Given the description of an element on the screen output the (x, y) to click on. 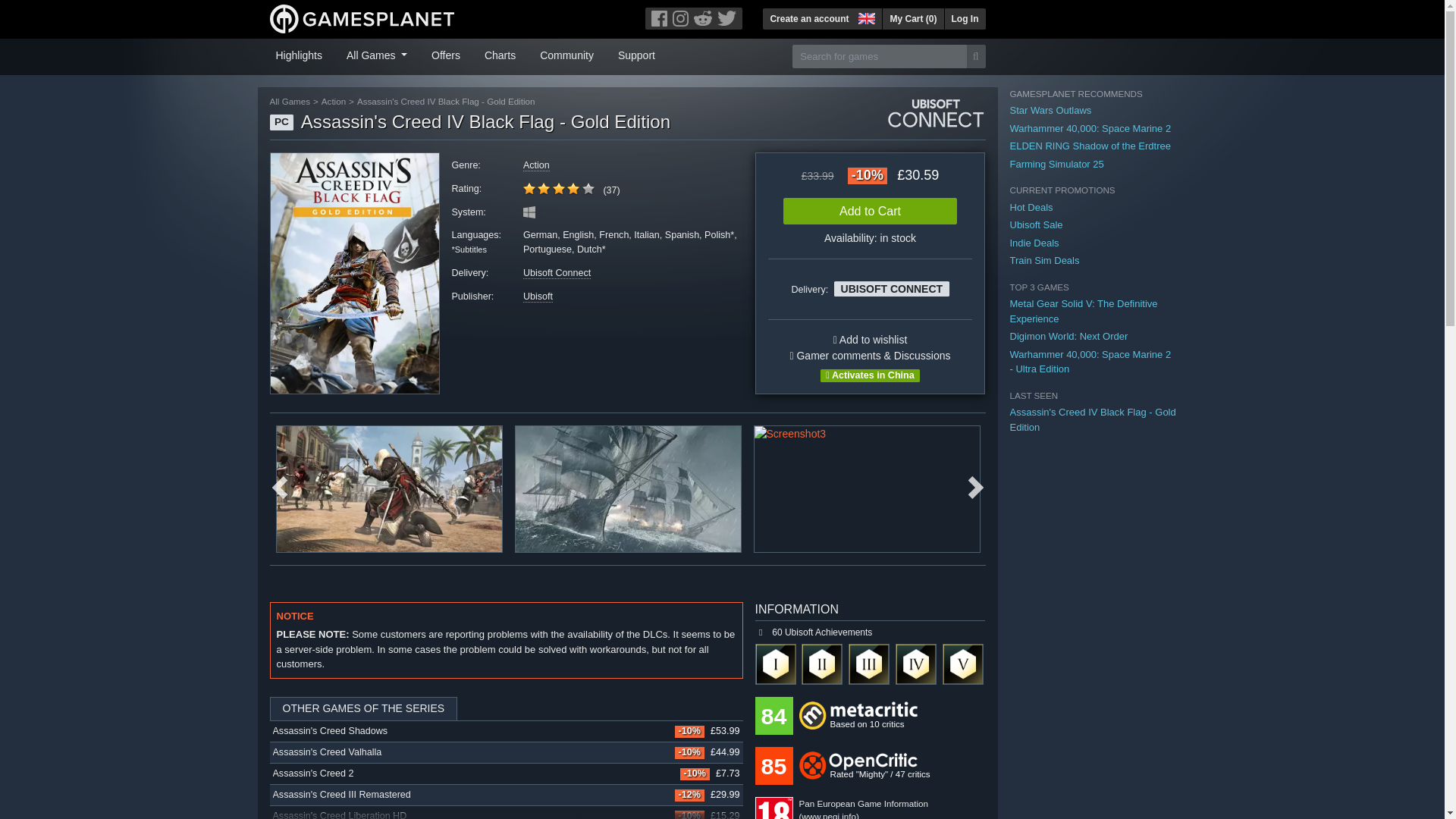
Achievement: No Apologies (915, 663)
Log In (964, 18)
good (558, 188)
Achievement: Death Of A Salesman (963, 663)
good (558, 188)
Create an account (809, 18)
Achievement: Good While It Lasted (822, 663)
Highlights (299, 53)
All Games (376, 53)
Achievement: A Pirate's Life For Me (868, 663)
